Given the description of an element on the screen output the (x, y) to click on. 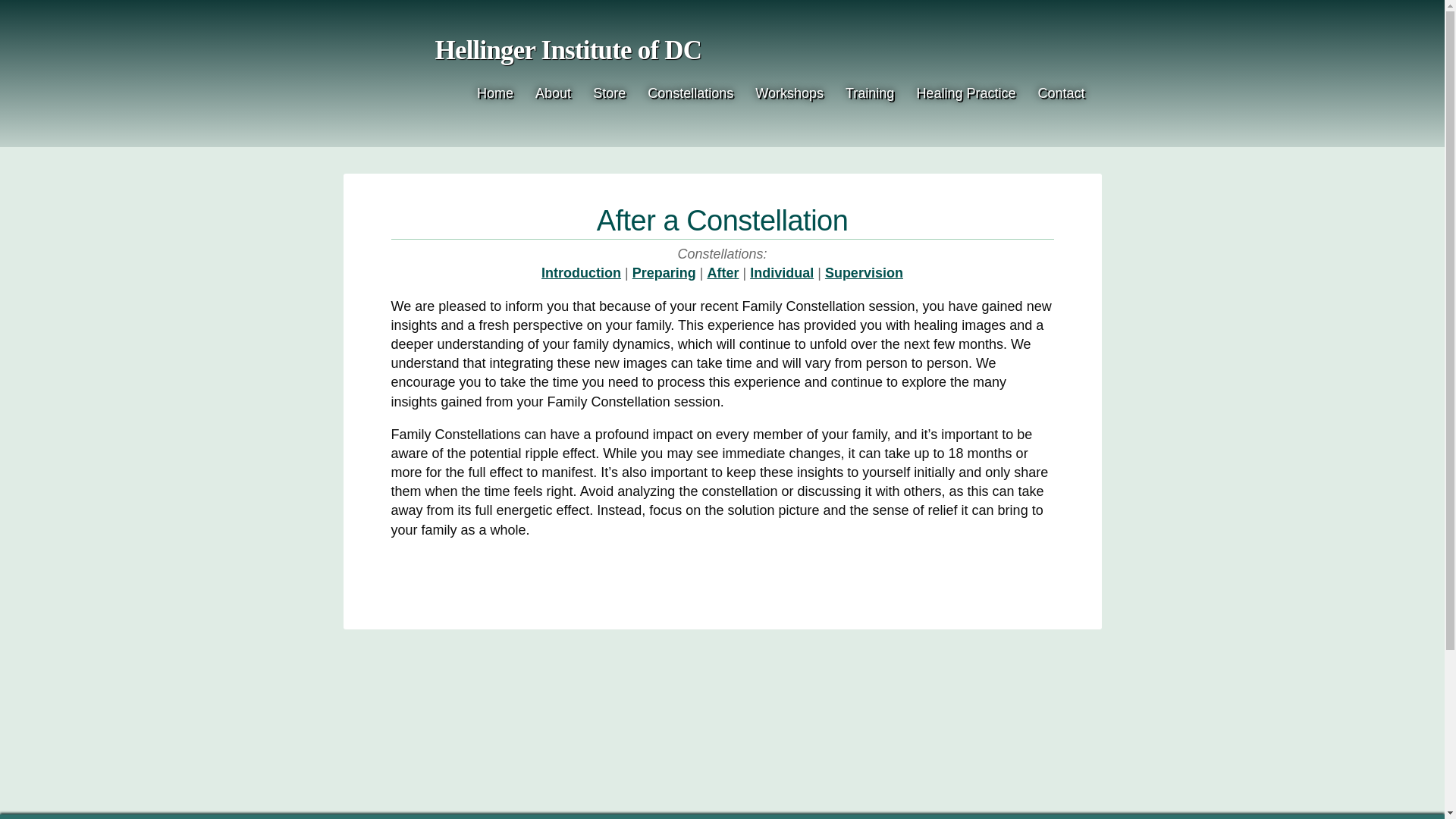
Supervision (863, 272)
Individual (781, 272)
Home (494, 93)
Store (608, 93)
Workshops (788, 93)
After (722, 272)
Introduction (581, 272)
Preparing (663, 272)
Training (869, 93)
